Given the description of an element on the screen output the (x, y) to click on. 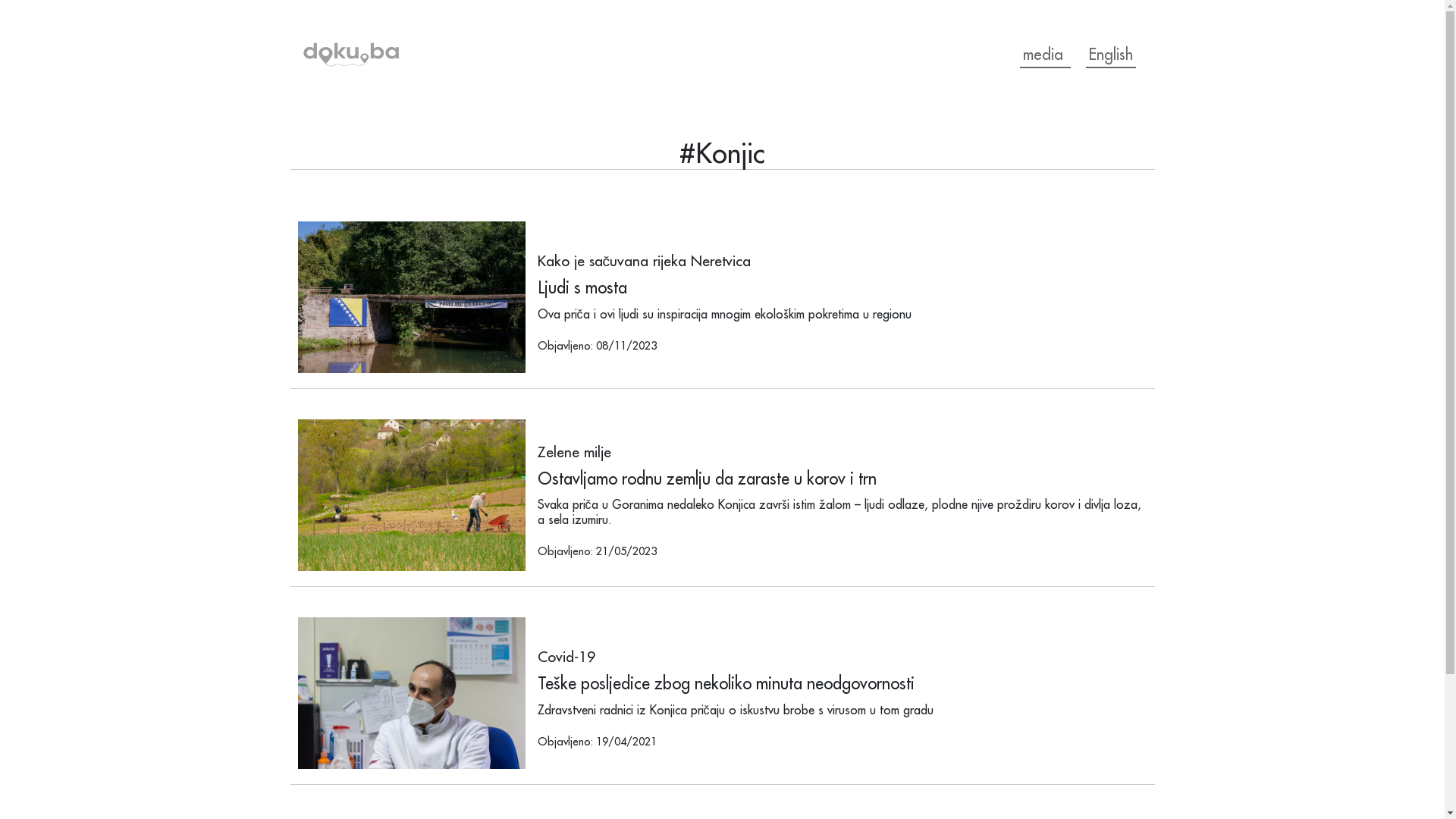
media Element type: text (1044, 54)
English Element type: text (1110, 54)
